Given the description of an element on the screen output the (x, y) to click on. 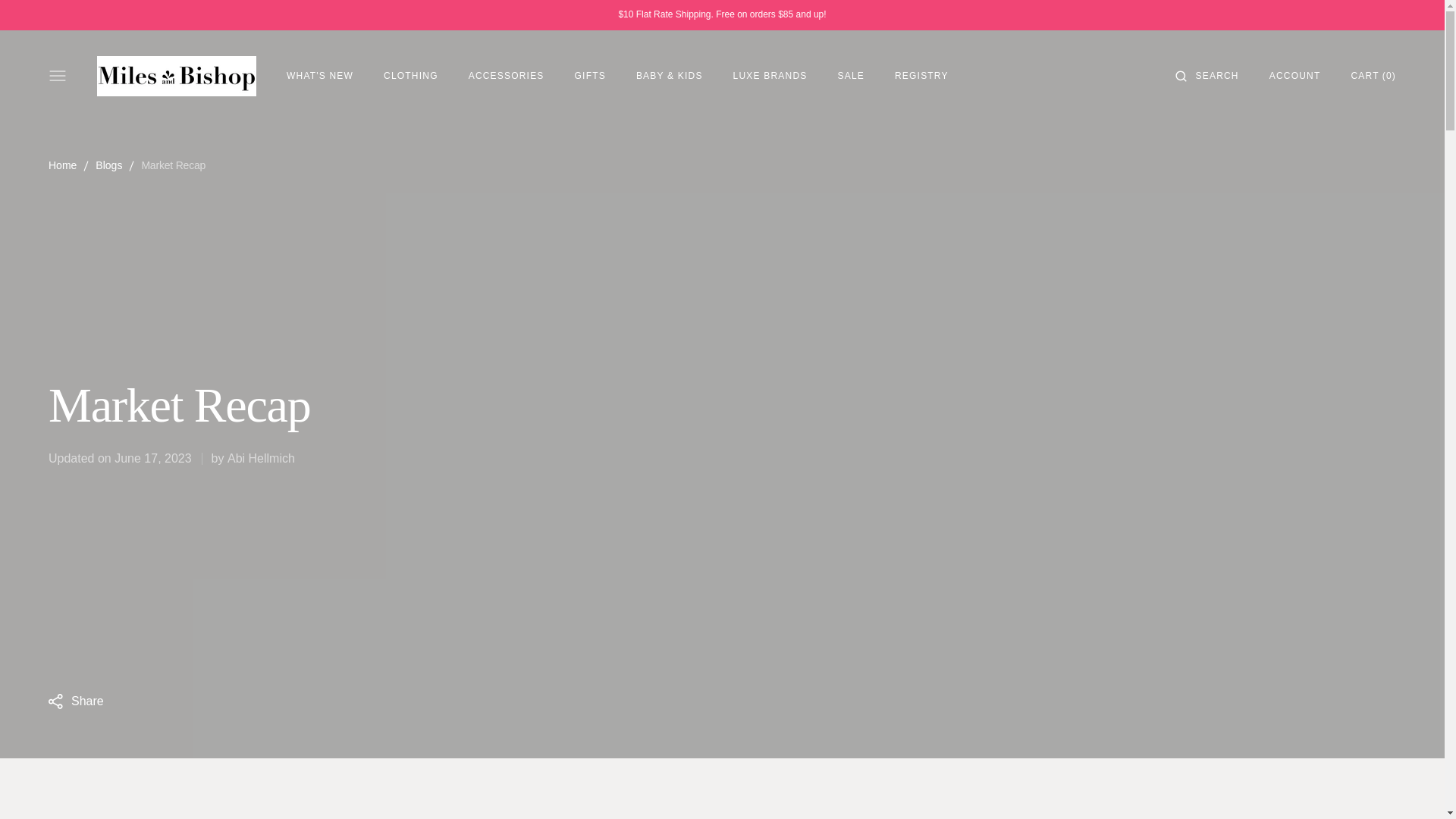
Account (1294, 74)
Search (1217, 74)
Blogs (109, 165)
Home (62, 165)
